Given the description of an element on the screen output the (x, y) to click on. 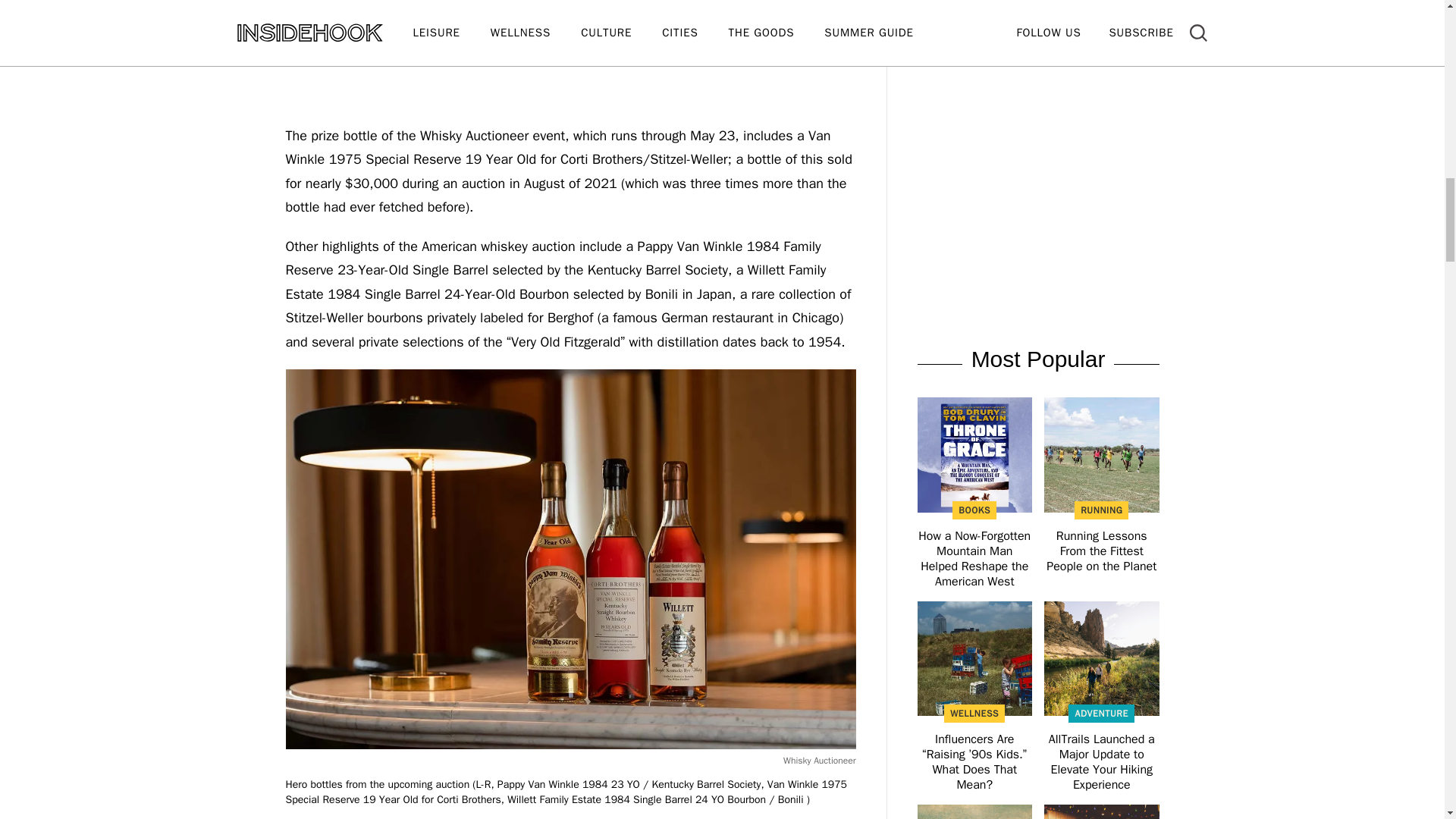
3rd party ad content (1037, 73)
